Given the description of an element on the screen output the (x, y) to click on. 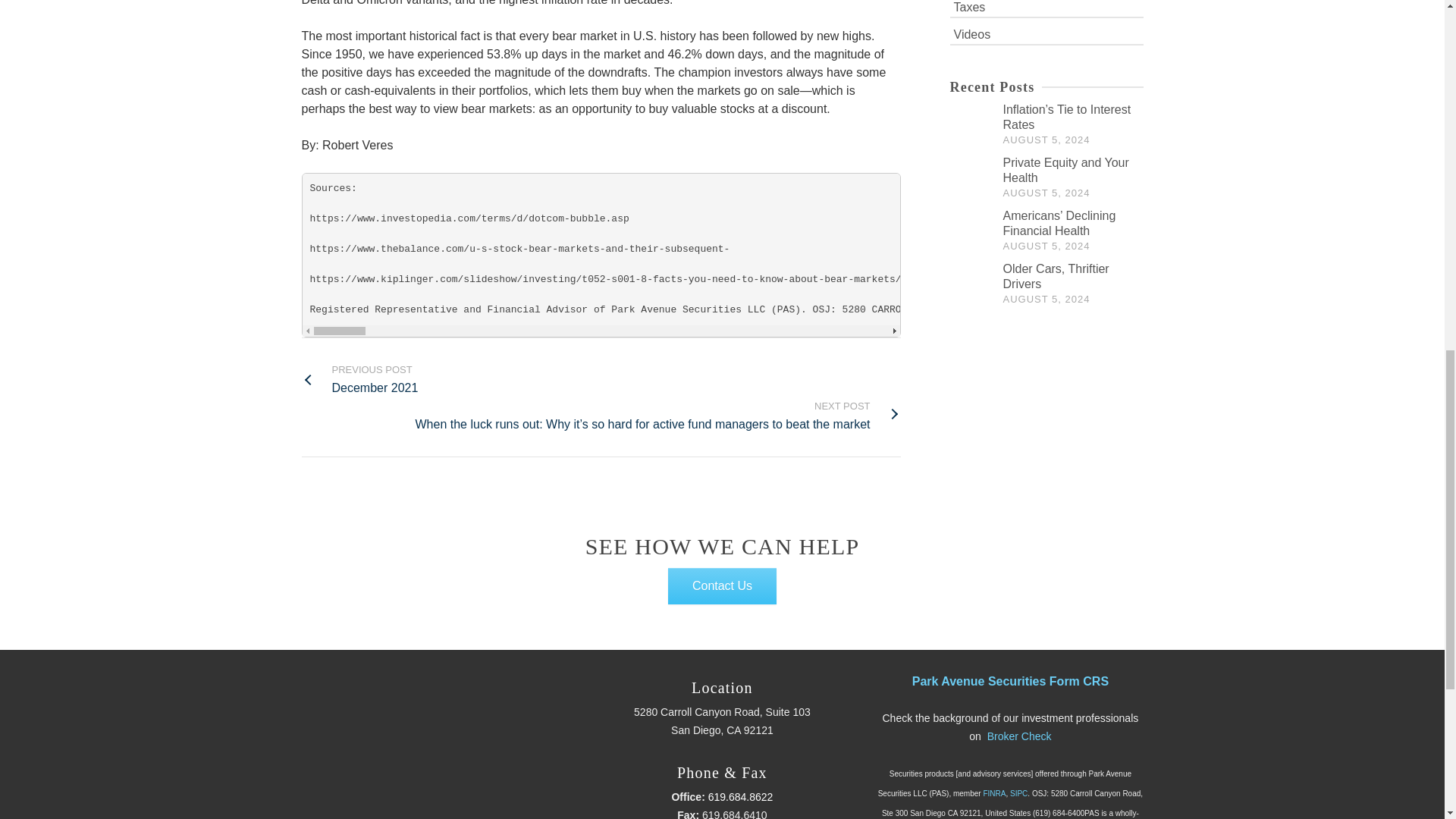
Private Equity and Your Health (1065, 170)
Private Equity and Your Health (971, 177)
Older Cars, Thriftier Drivers (971, 284)
Older Cars, Thriftier Drivers (360, 379)
